Given the description of an element on the screen output the (x, y) to click on. 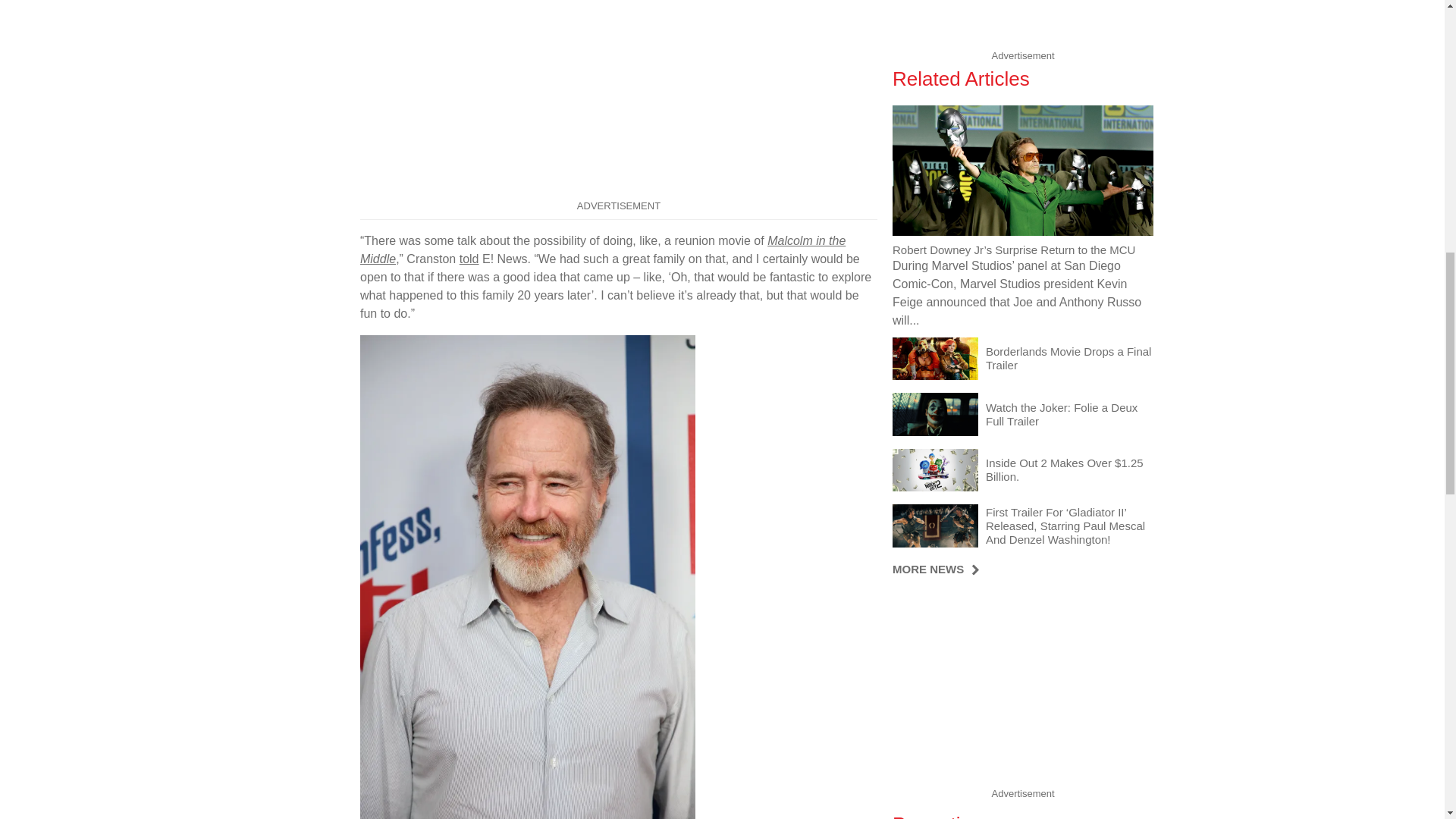
3rd party ad content (618, 99)
3rd party ad content (1022, 687)
3rd party ad content (1022, 22)
